Given the description of an element on the screen output the (x, y) to click on. 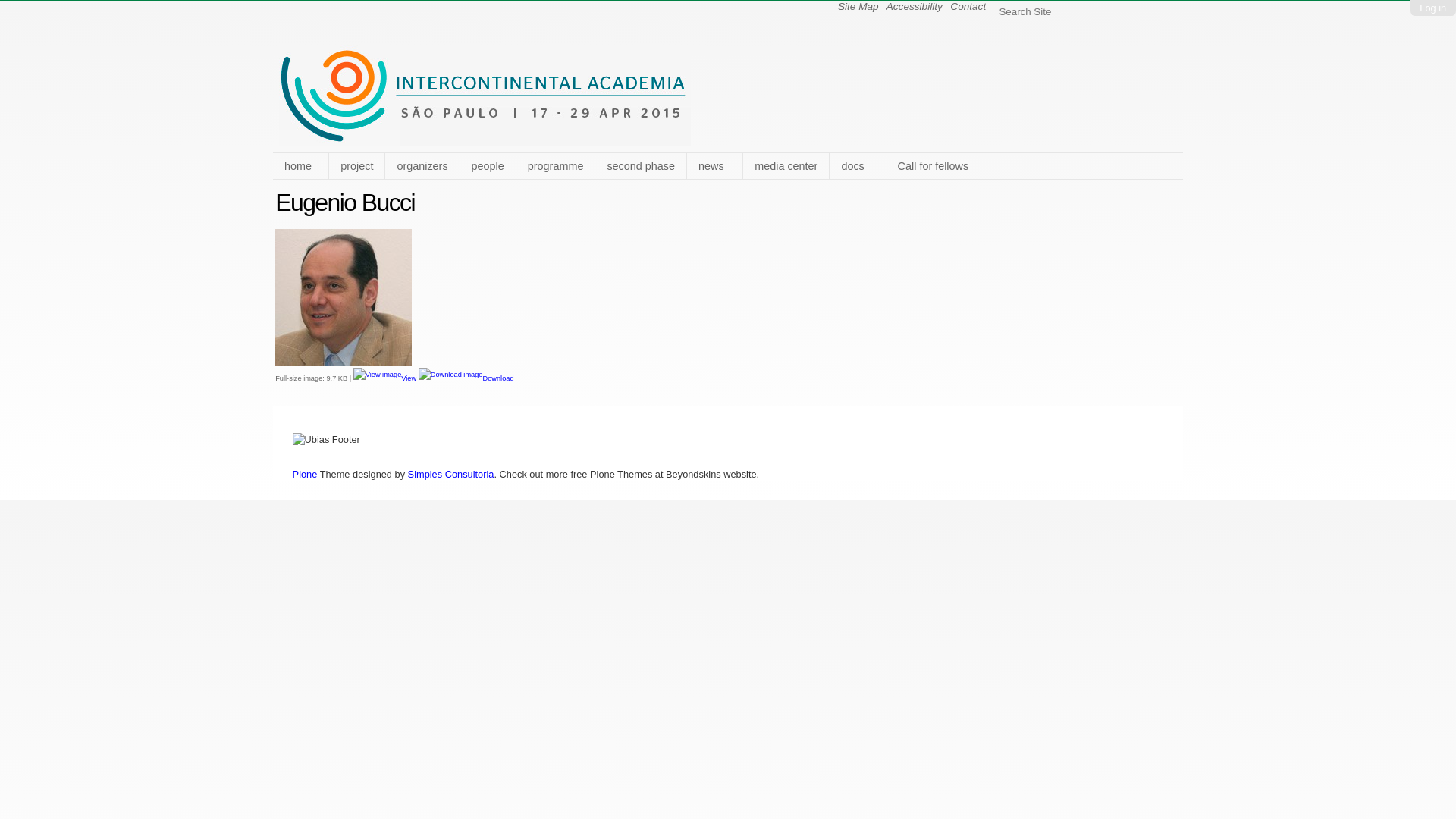
View Element type: text (385, 378)
Download image Element type: hover (450, 374)
Download Element type: text (466, 378)
Accessibility Element type: text (914, 6)
Site Map Element type: text (857, 6)
Search Site Element type: hover (1076, 10)
second phase Element type: text (640, 165)
organizers Element type: text (421, 165)
Eugenio Bucci Element type: hover (343, 297)
Simples Consultoria Element type: text (450, 474)
Intercontinental Academia logo Element type: hover (484, 95)
Search Element type: text (1169, 10)
project Element type: text (356, 165)
Log in Element type: text (1432, 7)
home Element type: text (300, 165)
View image Element type: hover (377, 374)
news Element type: text (714, 165)
Contact Element type: text (967, 6)
docs Element type: text (856, 165)
Call for fellows Element type: text (932, 165)
Footer Element type: hover (326, 439)
media center Element type: text (785, 165)
Intercontinental Academia Element type: hover (484, 138)
programme Element type: text (555, 165)
people Element type: text (487, 165)
Plone Element type: text (304, 474)
